Given the description of an element on the screen output the (x, y) to click on. 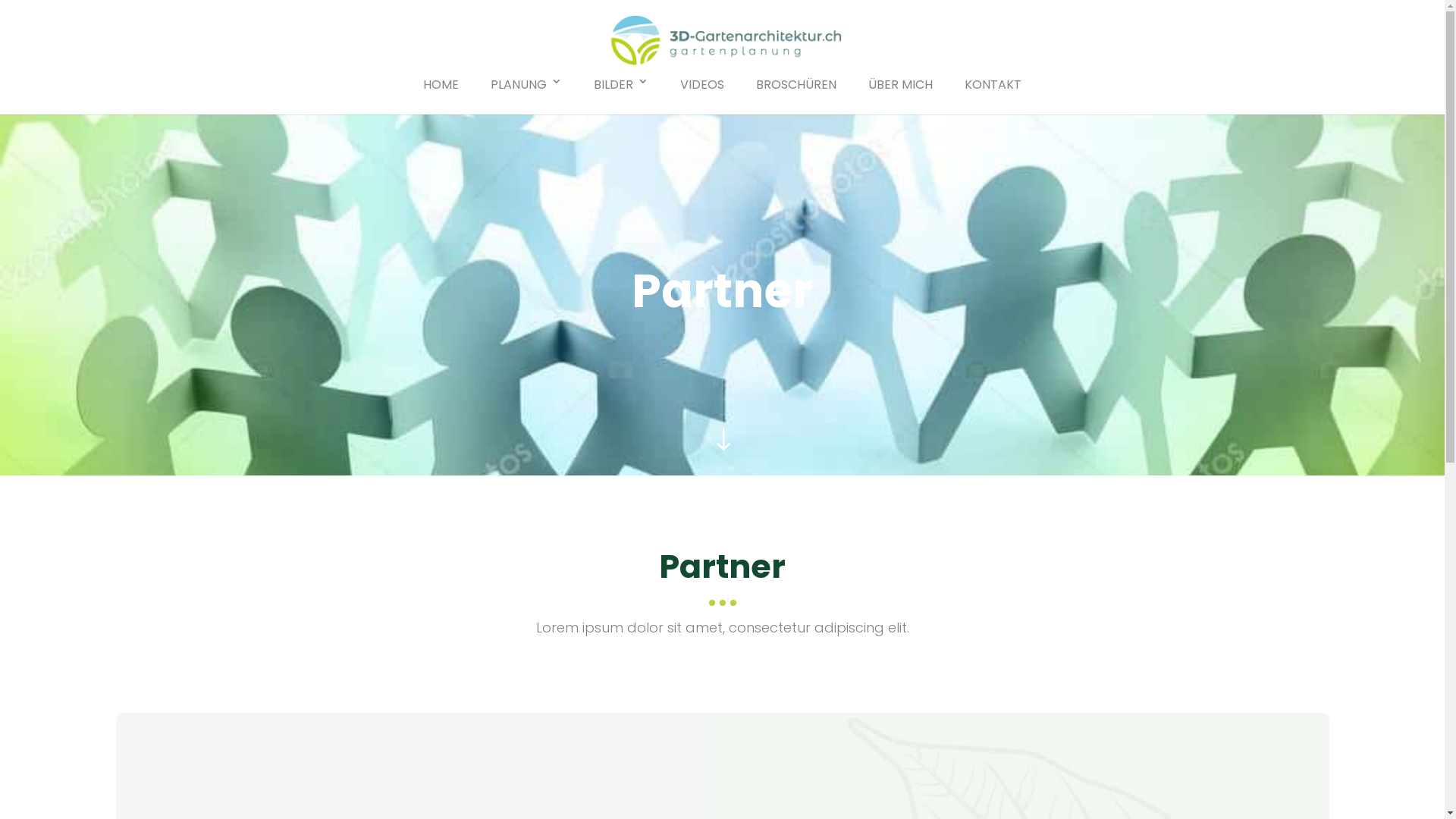
Impressum Element type: text (627, 795)
VIDEOS Element type: text (702, 96)
JAMOS Element type: text (868, 795)
BILDER Element type: text (620, 96)
PLANUNG Element type: text (525, 96)
+41 78 260 00 33 Element type: text (1025, 668)
tk@3d-gartenarchitektur.ch Element type: text (1054, 688)
" Element type: text (721, 442)
HOME Element type: text (440, 96)
KONTAKT Element type: text (992, 96)
